Given the description of an element on the screen output the (x, y) to click on. 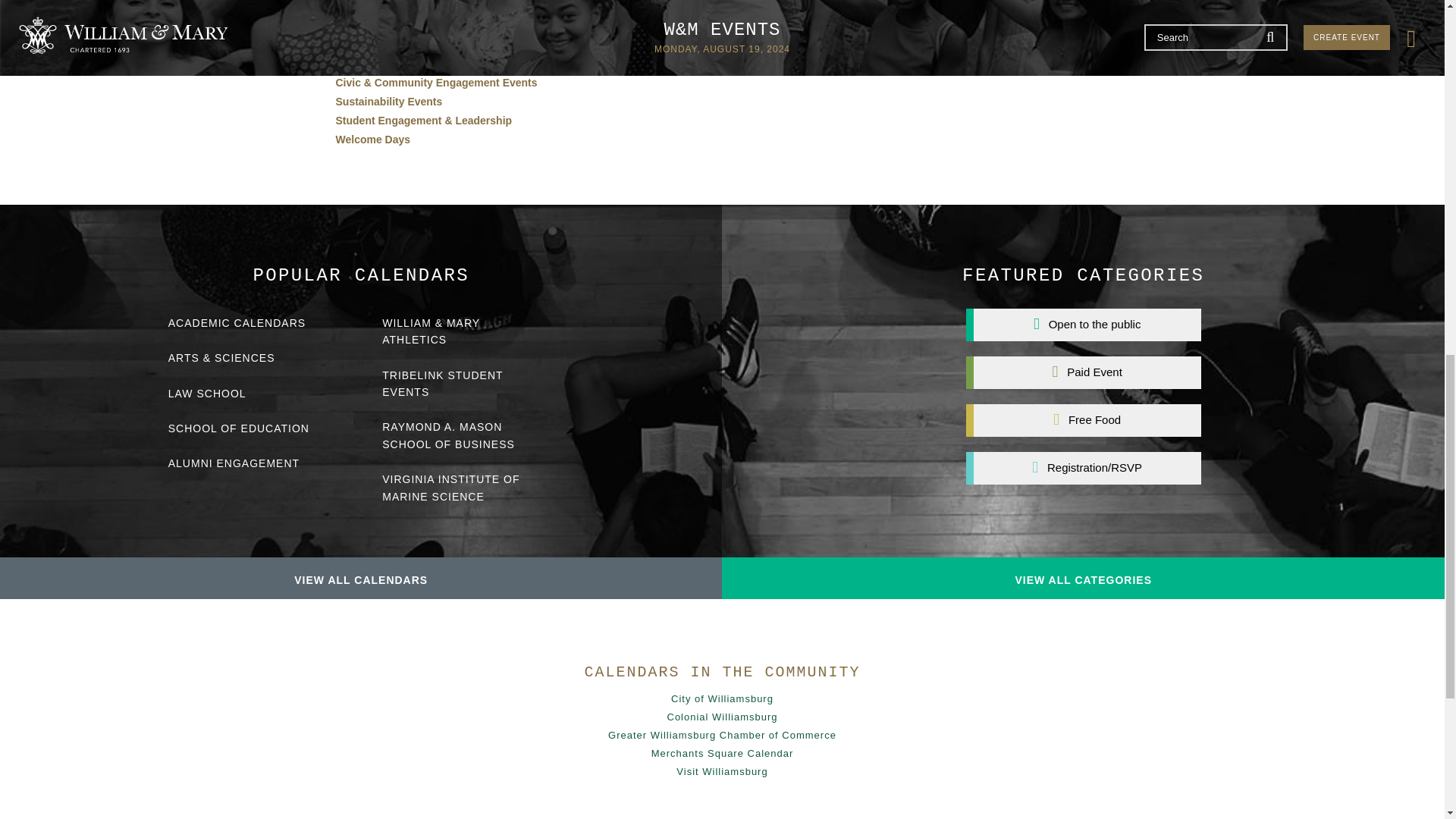
Sustainability Events (388, 101)
Government Events (384, 63)
Welcome Days (372, 139)
